Given the description of an element on the screen output the (x, y) to click on. 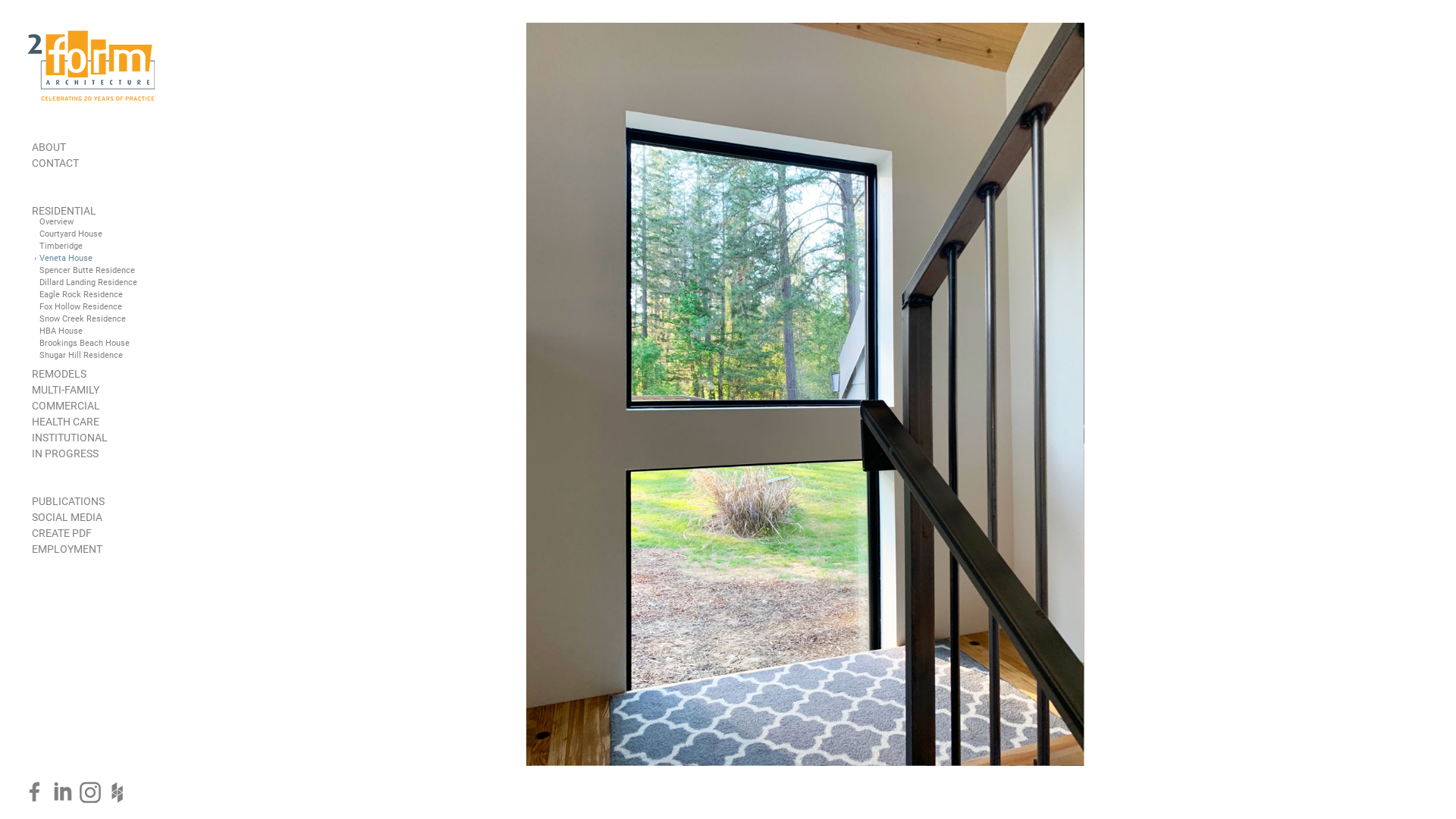
CONTACT Element type: text (54, 162)
SOCIAL MEDIA Element type: text (66, 517)
MULTI-FAMILY Element type: text (65, 389)
RESIDENTIAL Element type: text (63, 210)
ABOUT Element type: text (48, 147)
EMPLOYMENT Element type: text (66, 548)
thumbs Element type: text (1308, 805)
CREATE PDF Element type: text (61, 533)
Overview Element type: text (56, 221)
Spencer Butte Residence Element type: text (86, 270)
PUBLICATIONS Element type: text (67, 501)
COMMERCIAL Element type: text (65, 405)
HBA House Element type: text (60, 330)
Courtyard House Element type: text (70, 233)
Eagle Rock Residence Element type: text (80, 294)
REMODELS Element type: text (58, 373)
HEALTH CARE Element type: text (65, 421)
Brookings Beach House Element type: text (84, 343)
Fox Hollow Residence Element type: text (80, 306)
IN PROGRESS Element type: text (64, 453)
Shugar Hill Residence Element type: text (80, 355)
email Element type: text (1254, 805)
Snow Creek Residence Element type: text (82, 318)
Timberidge Element type: text (60, 246)
Dillard Landing Residence Element type: text (88, 282)
Veneta House Element type: text (65, 258)
prev Element type: text (1353, 805)
6 of 11 Element type: text (1386, 805)
INSTITUTIONAL Element type: text (69, 437)
